Given the description of an element on the screen output the (x, y) to click on. 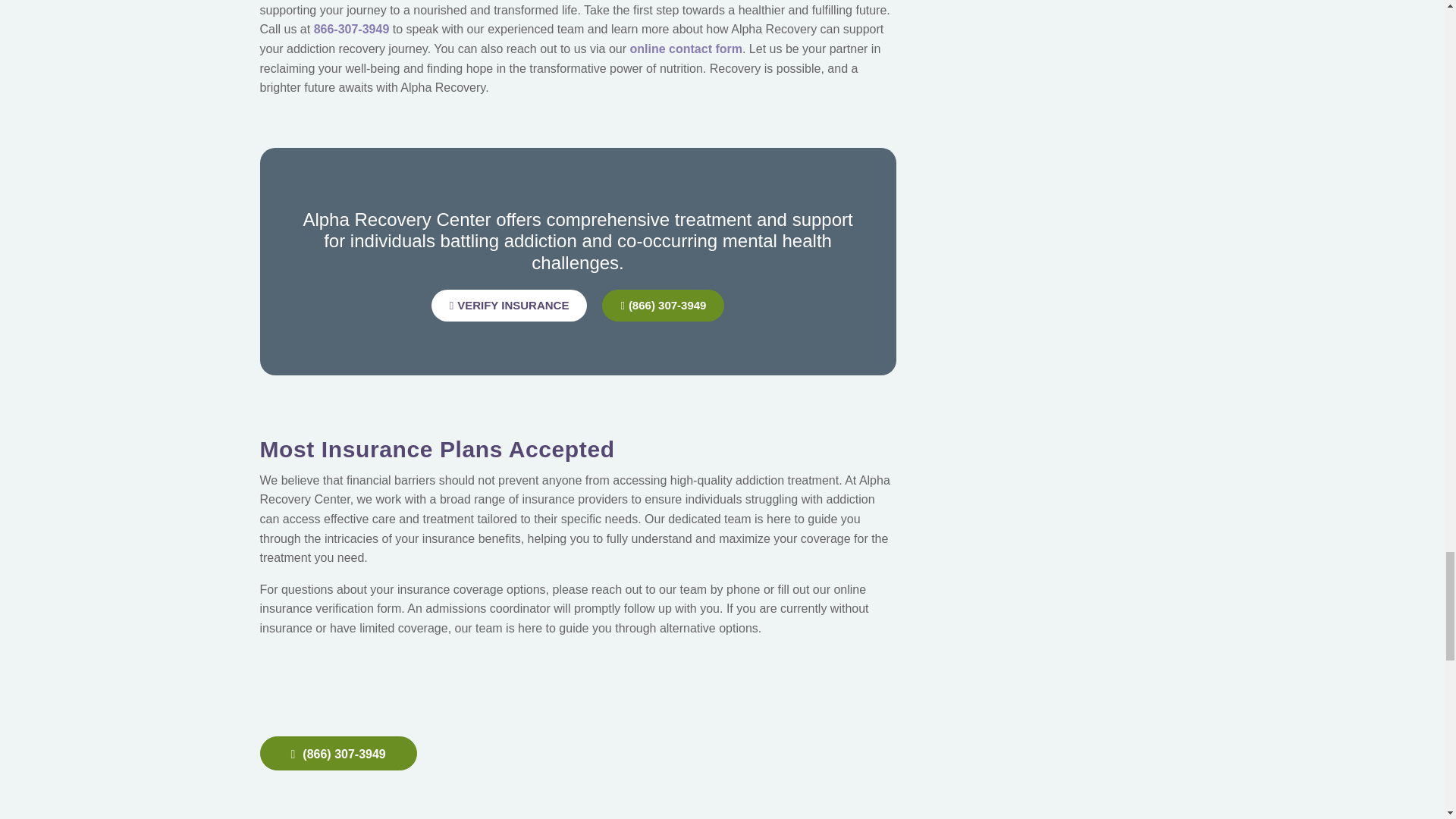
online contact form (684, 48)
VERIFY INSURANCE (509, 305)
866-307-3949 (352, 29)
